Given the description of an element on the screen output the (x, y) to click on. 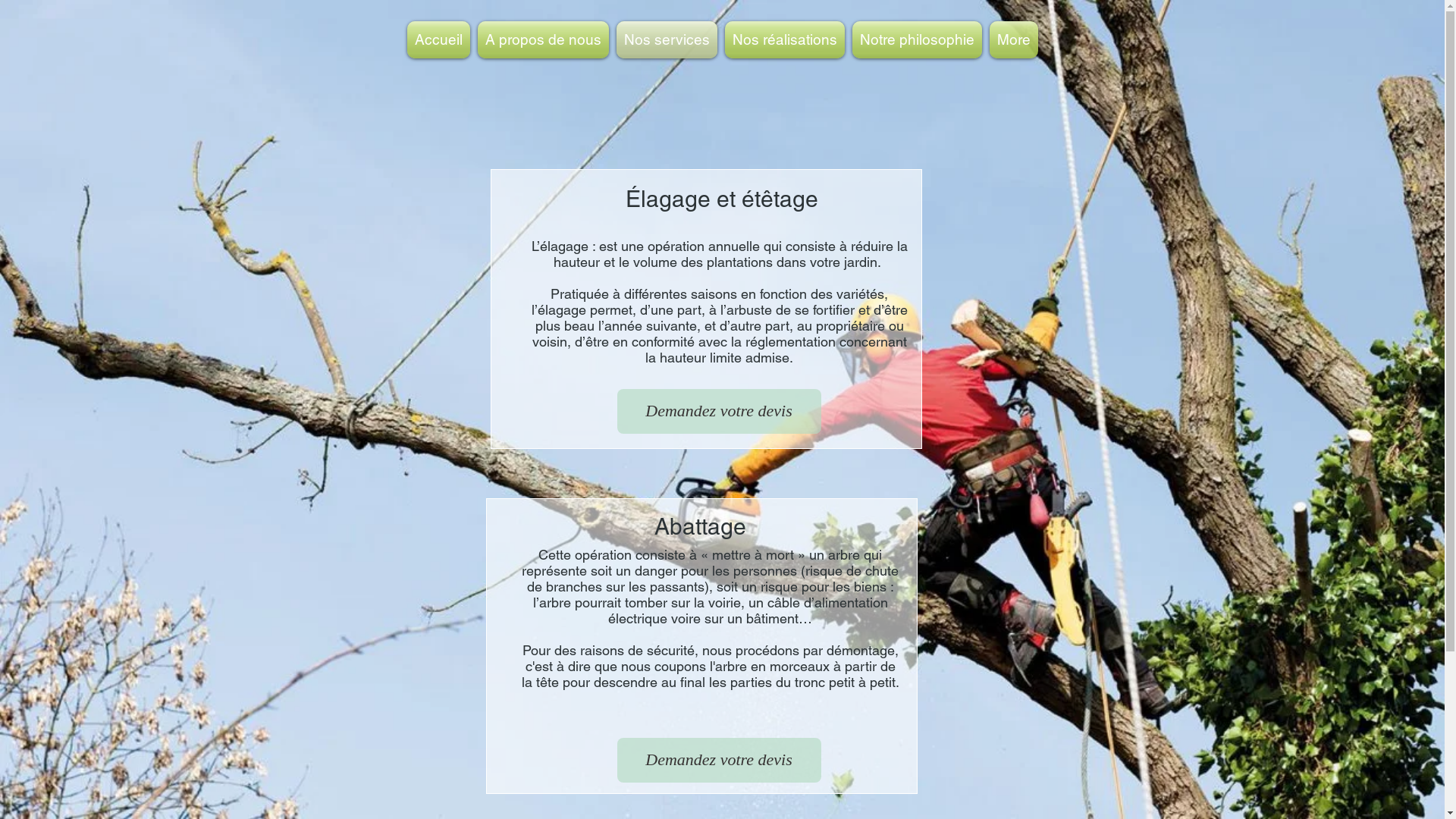
Accueil Element type: text (438, 39)
Nos services Element type: text (666, 39)
Demandez votre devis Element type: text (719, 411)
A propos de nous Element type: text (542, 39)
Demandez votre devis Element type: text (719, 759)
Notre philosophie Element type: text (916, 39)
